Given the description of an element on the screen output the (x, y) to click on. 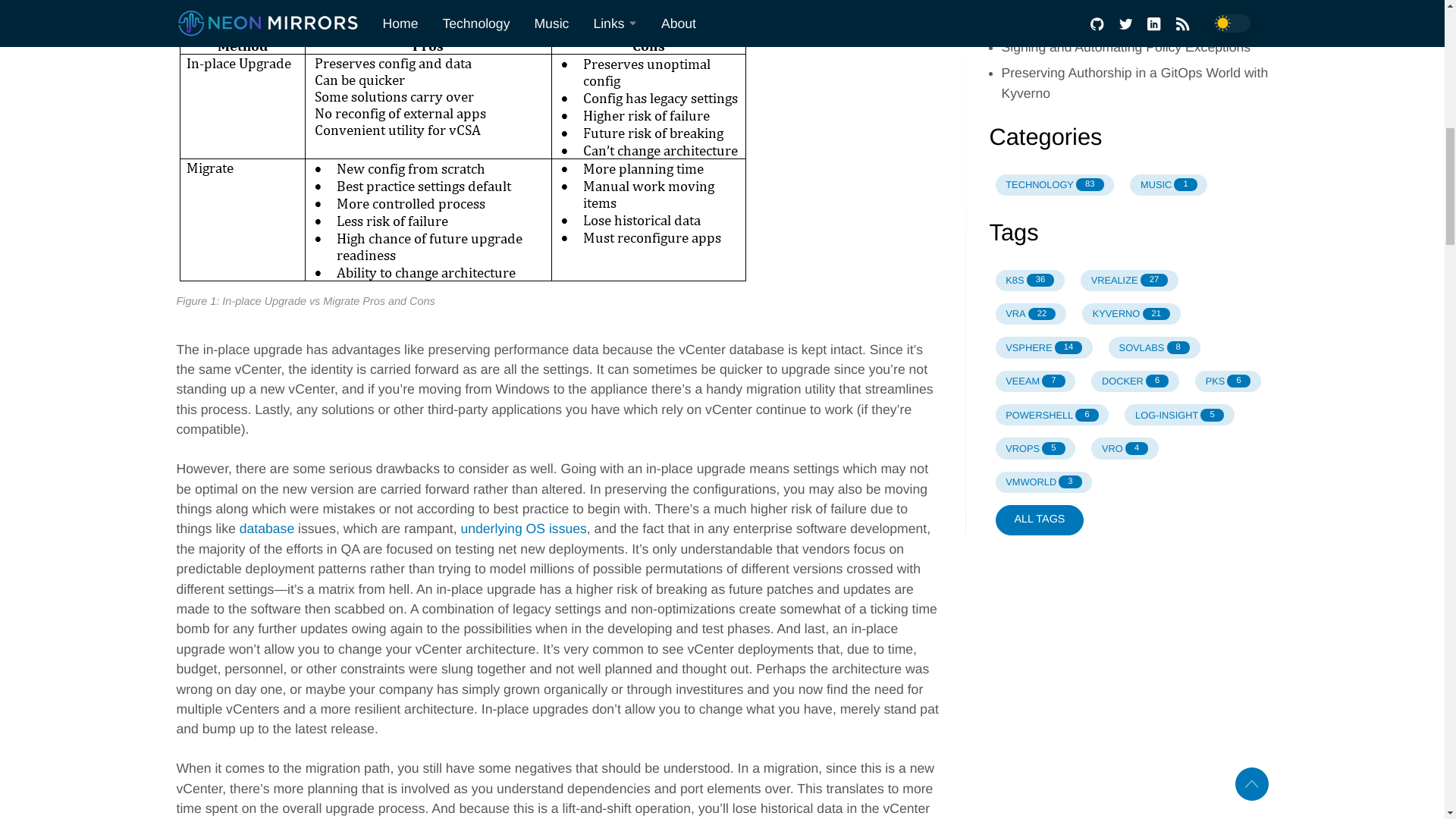
database (267, 528)
underlying OS issues (523, 528)
